Given the description of an element on the screen output the (x, y) to click on. 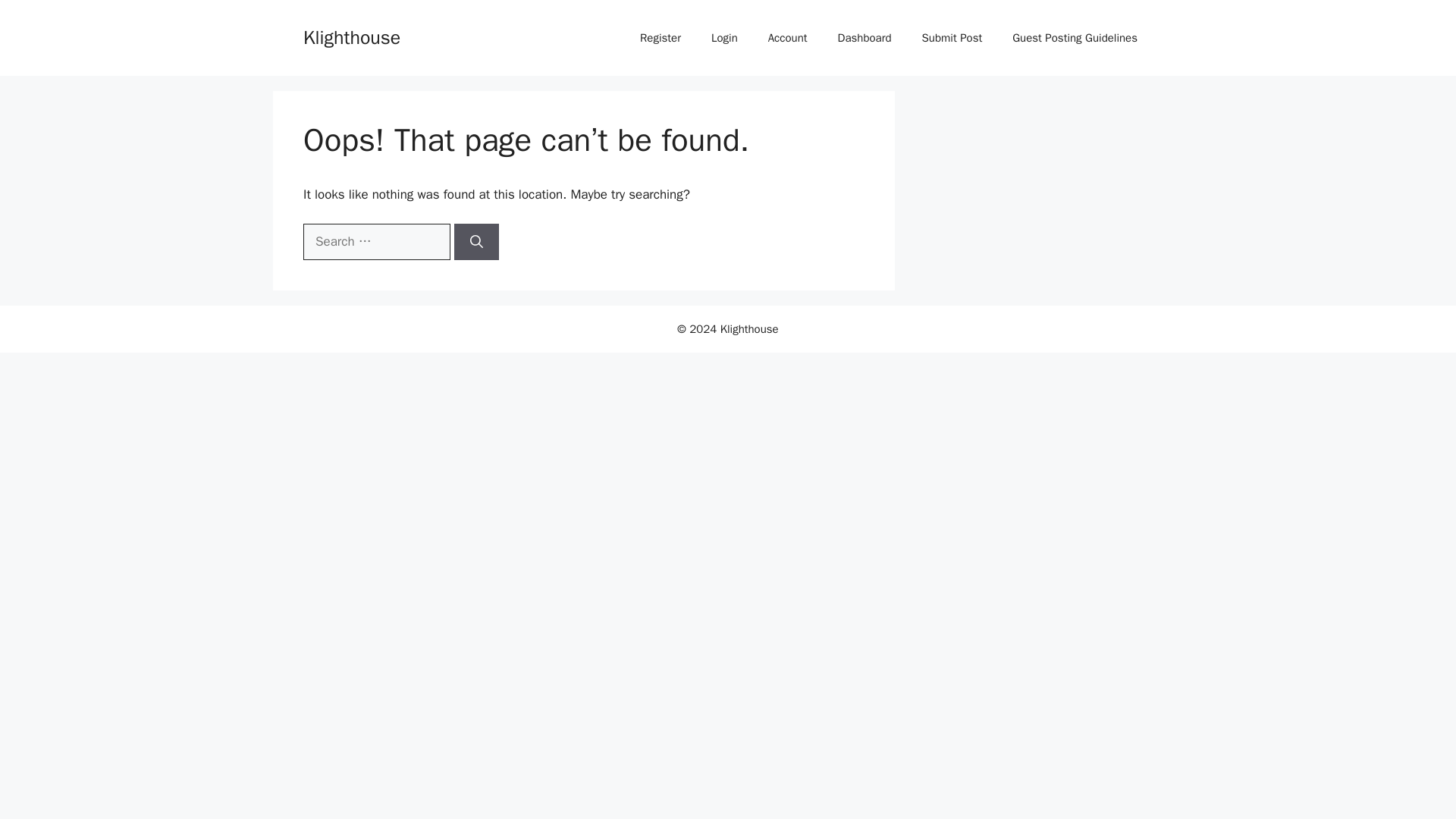
Klighthouse (351, 37)
Guest Posting Guidelines (1075, 37)
Login (723, 37)
Search for: (375, 241)
Dashboard (864, 37)
Register (659, 37)
Account (787, 37)
Submit Post (952, 37)
